Given the description of an element on the screen output the (x, y) to click on. 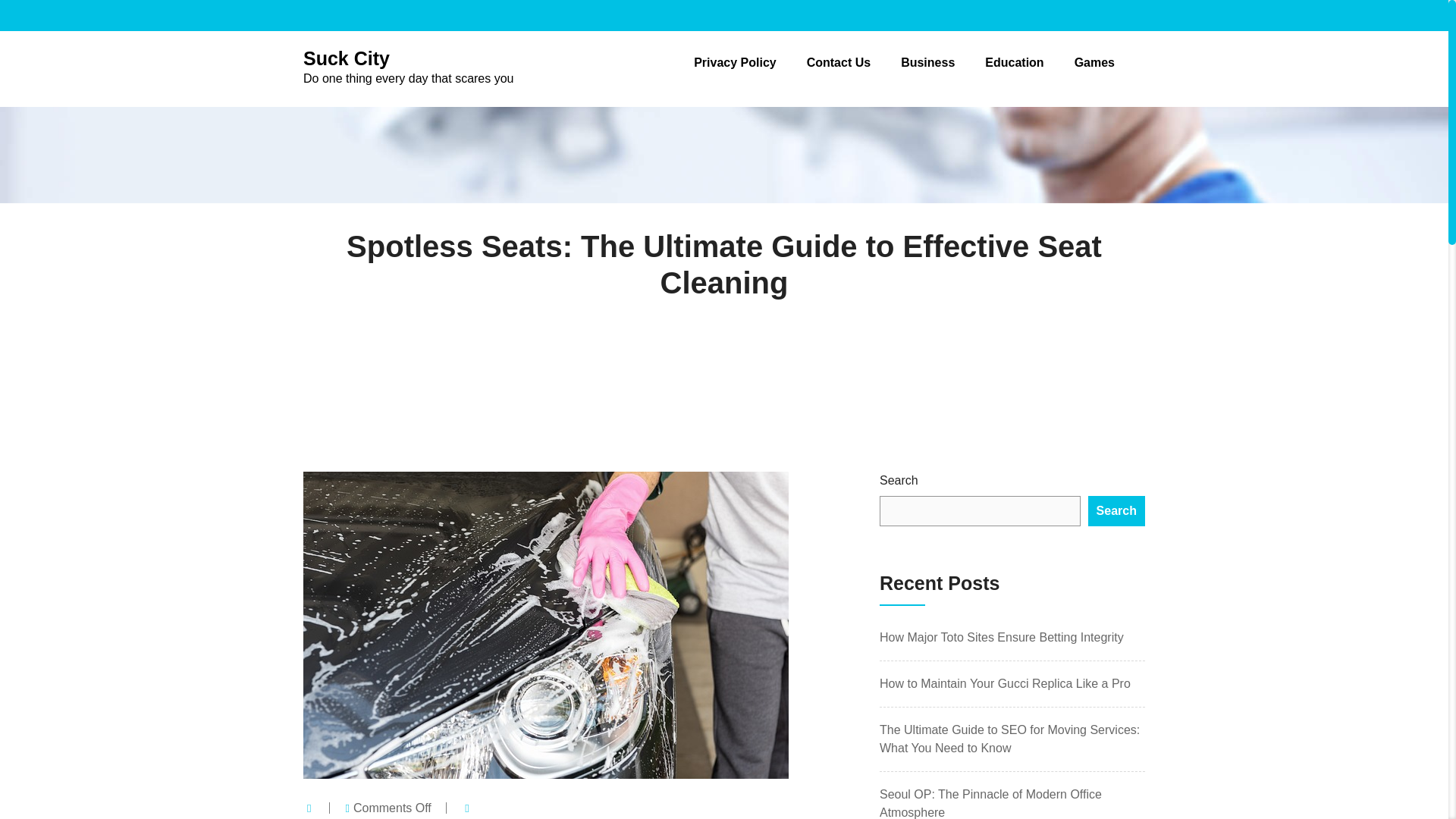
Business (407, 66)
Search (928, 62)
Seoul OP: The Pinnacle of Modern Office Atmosphere (1115, 511)
How to Maintain Your Gucci Replica Like a Pro (990, 803)
Privacy Policy (1005, 683)
How Major Toto Sites Ensure Betting Integrity (735, 62)
Contact Us (1001, 636)
Education (838, 62)
